Given the description of an element on the screen output the (x, y) to click on. 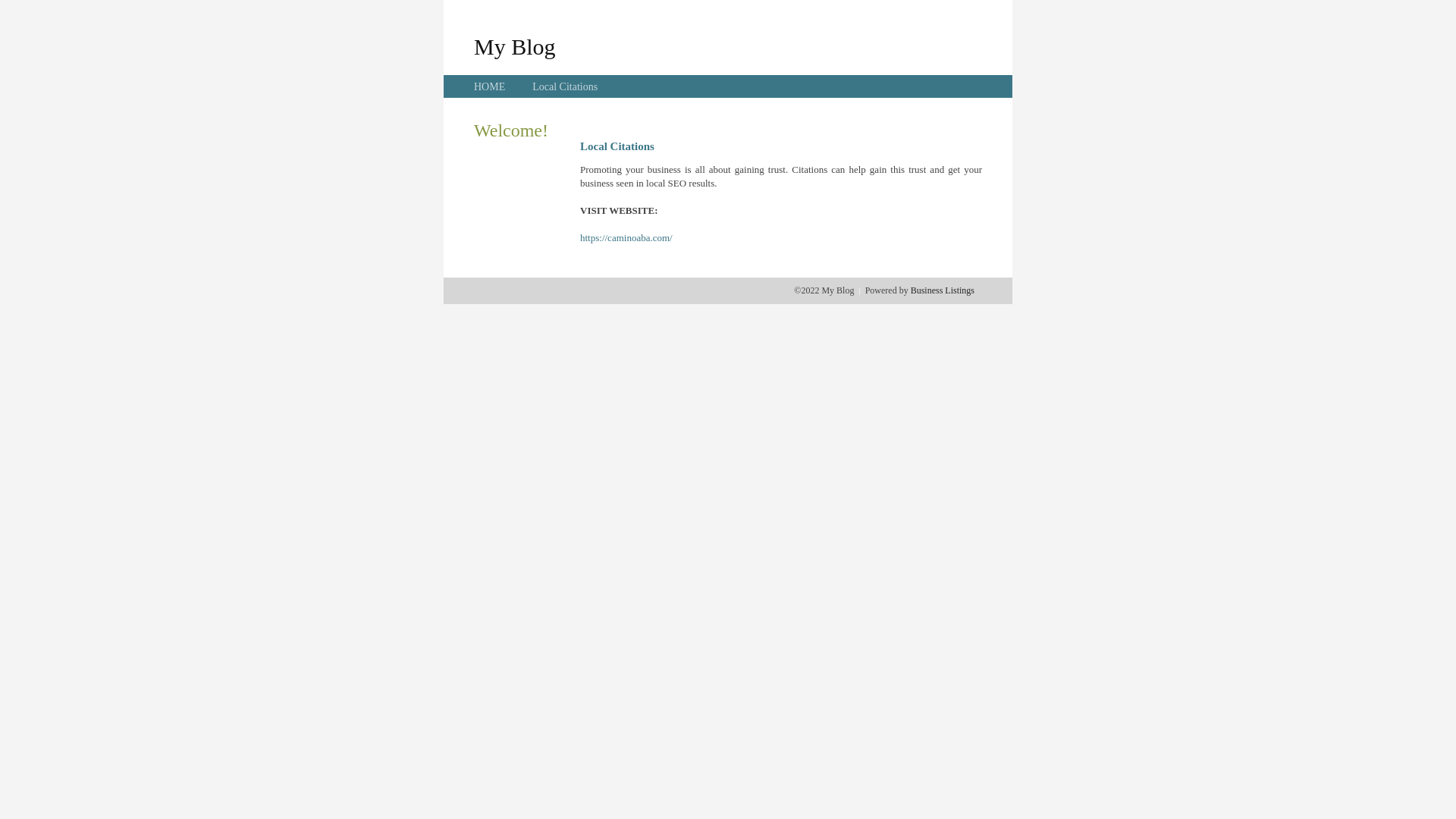
My Blog Element type: text (514, 46)
Local Citations Element type: text (564, 86)
https://caminoaba.com/ Element type: text (626, 237)
HOME Element type: text (489, 86)
Business Listings Element type: text (942, 290)
